Given the description of an element on the screen output the (x, y) to click on. 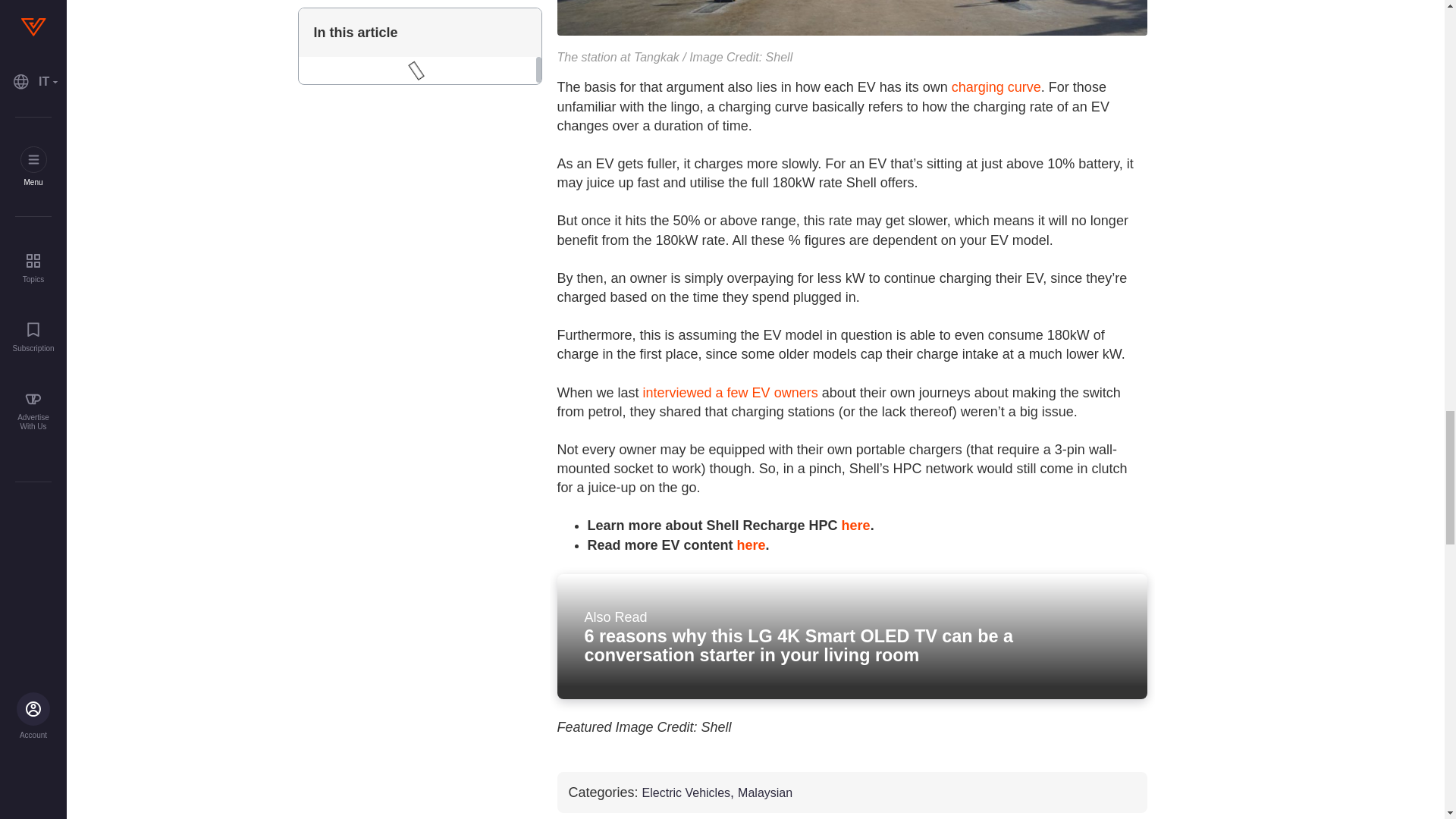
here (750, 544)
here (855, 525)
Electric Vehicles (686, 792)
Malaysian (765, 792)
charging curve (996, 87)
interviewed a few EV owners (730, 392)
